Given the description of an element on the screen output the (x, y) to click on. 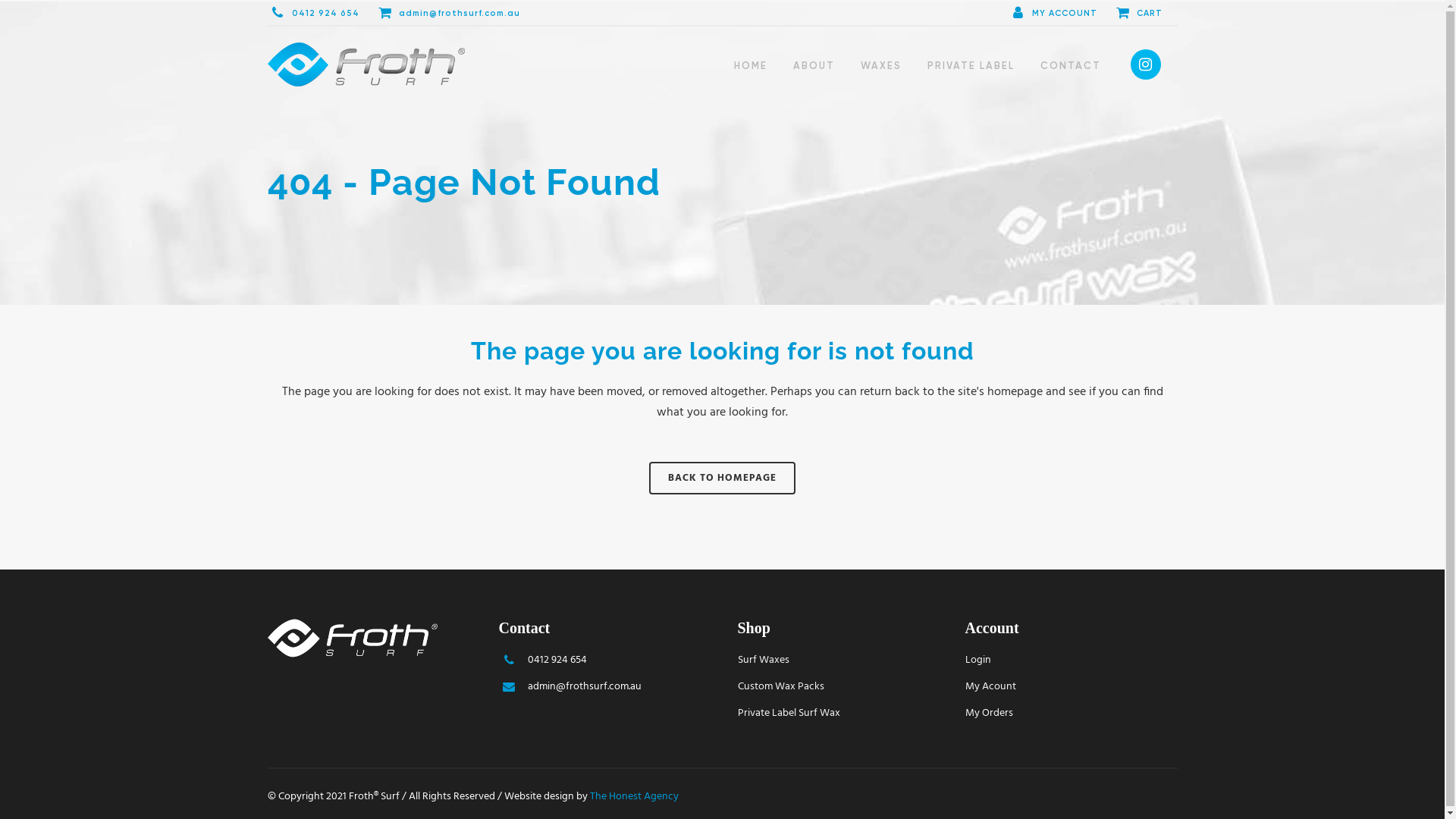
Login Element type: text (1070, 660)
ABOUT Element type: text (813, 65)
CART Element type: text (1143, 12)
admin@frothsurf.com.au Element type: text (454, 12)
My Acount Element type: text (1070, 686)
0412 924 654 Element type: text (606, 660)
Custom Wax Packs Element type: text (841, 686)
PRIVATE LABEL Element type: text (970, 65)
0412 924 654 Element type: text (319, 13)
admin@frothsurf.com.au Element type: text (606, 686)
CONTACT Element type: text (1070, 65)
HOME Element type: text (750, 65)
MY ACCOUNT Element type: text (1059, 13)
Surf Waxes Element type: text (841, 660)
The Honest Agency Element type: text (633, 795)
BACK TO HOMEPAGE Element type: text (722, 477)
Private Label Surf Wax Element type: text (841, 713)
My Orders Element type: text (1070, 713)
WAXES Element type: text (880, 65)
